Given the description of an element on the screen output the (x, y) to click on. 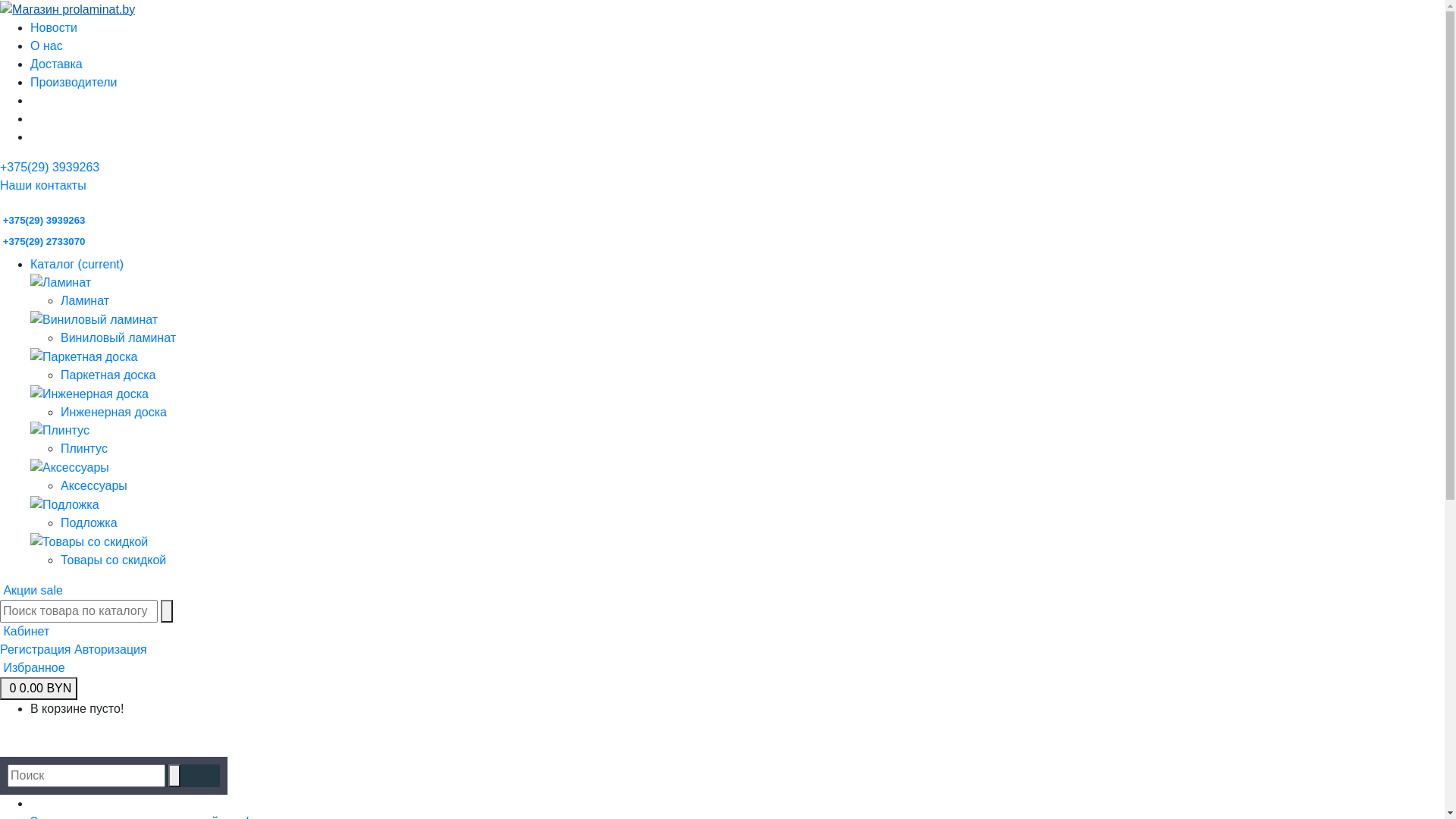
+375(29) 3939263 Element type: text (49, 166)
+375(29) 3939263 Element type: text (42, 219)
0 0.00 BYN Element type: text (38, 688)
+375(29) 2733070 Element type: text (42, 241)
